Given the description of an element on the screen output the (x, y) to click on. 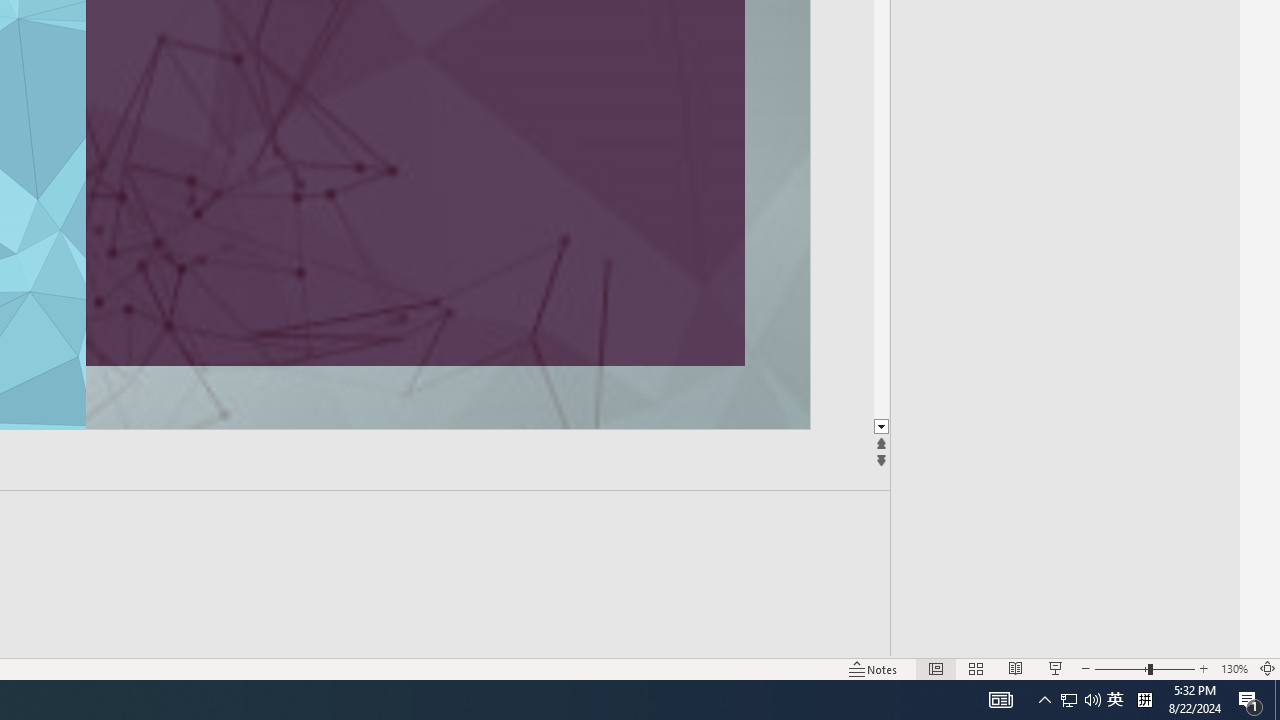
Zoom 130% (1234, 668)
